Given the description of an element on the screen output the (x, y) to click on. 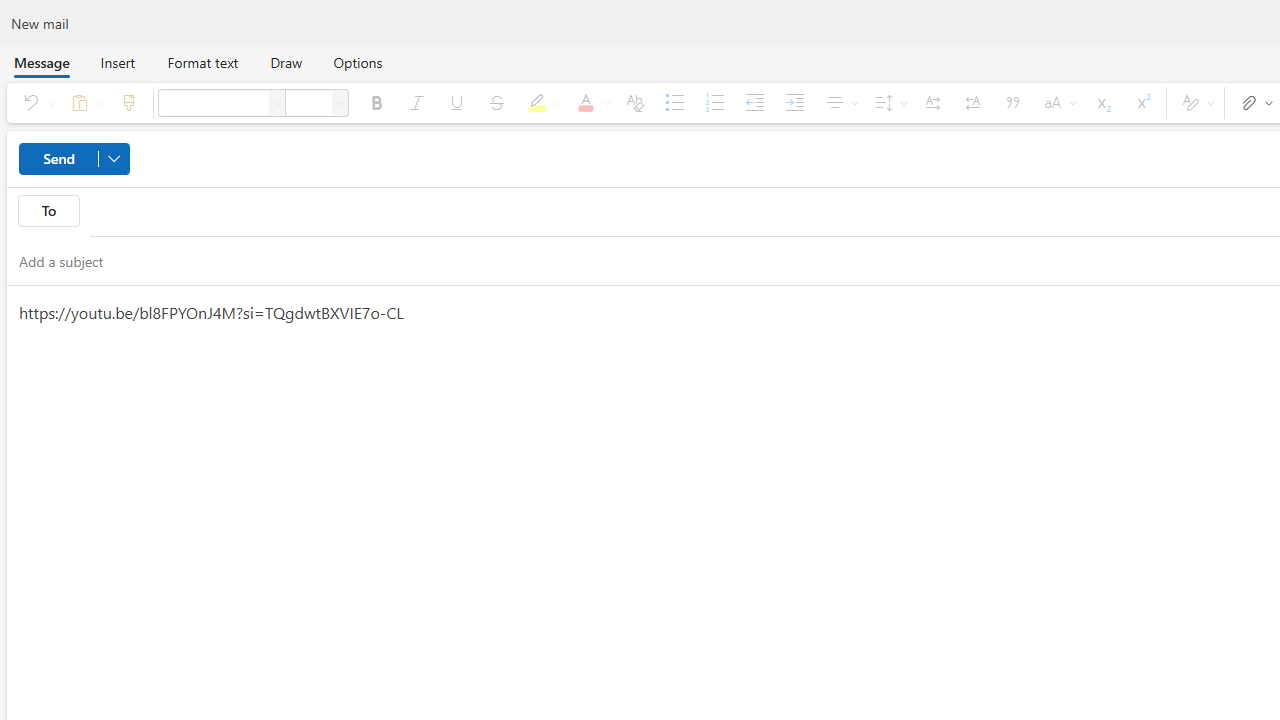
To (48, 210)
Strikethrough (497, 102)
Italic (416, 102)
Left-to-right (932, 102)
Clear formatting (634, 102)
System (10, 11)
Font size (308, 102)
Right-to-left (973, 102)
Underline (456, 102)
Superscript (1142, 102)
Send (74, 158)
Align (839, 102)
Font (213, 102)
Quote (1012, 102)
Undo (35, 102)
